Given the description of an element on the screen output the (x, y) to click on. 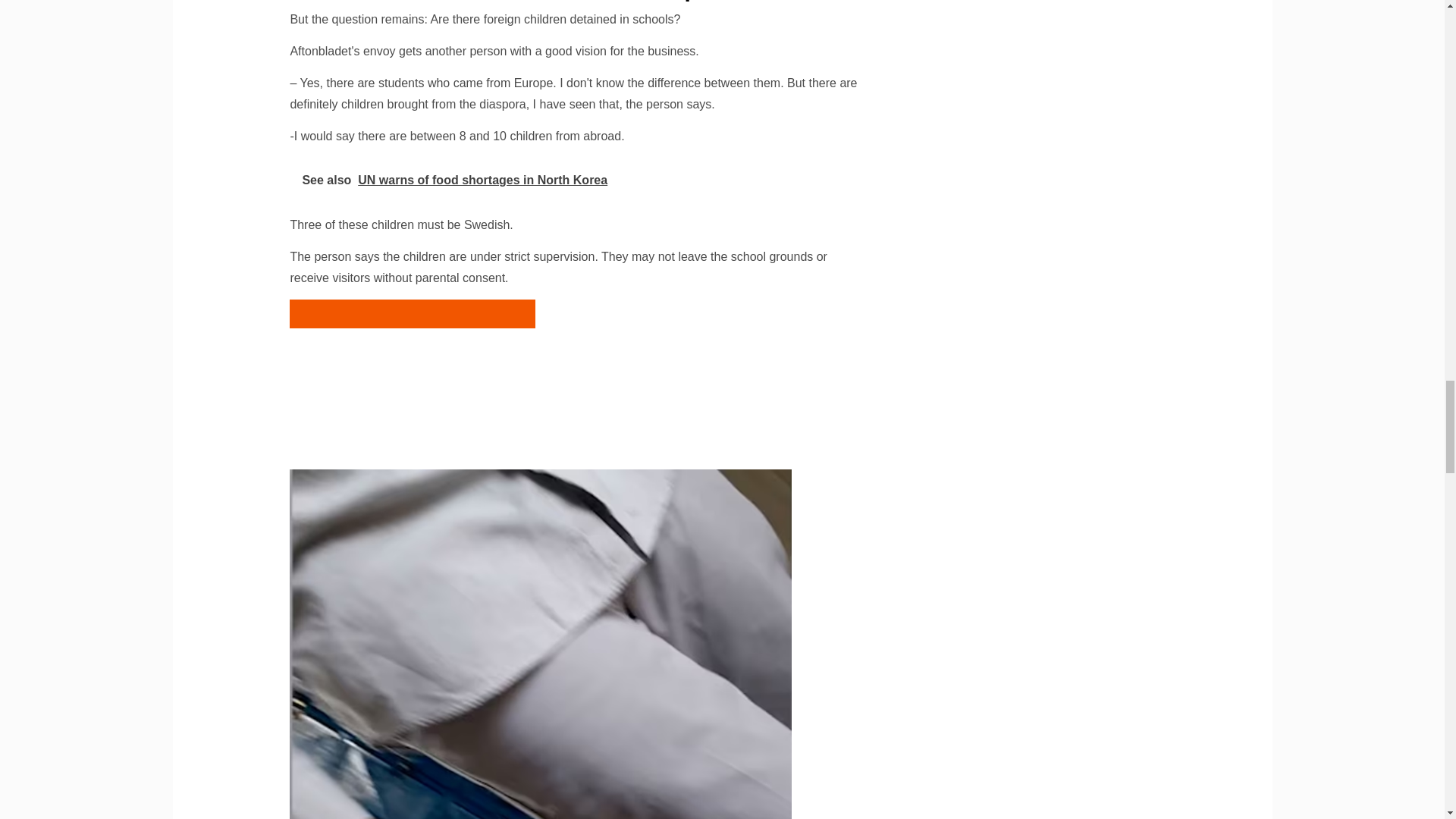
See also  UN warns of food shortages in North Korea (412, 313)
Expand left (574, 180)
